Given the description of an element on the screen output the (x, y) to click on. 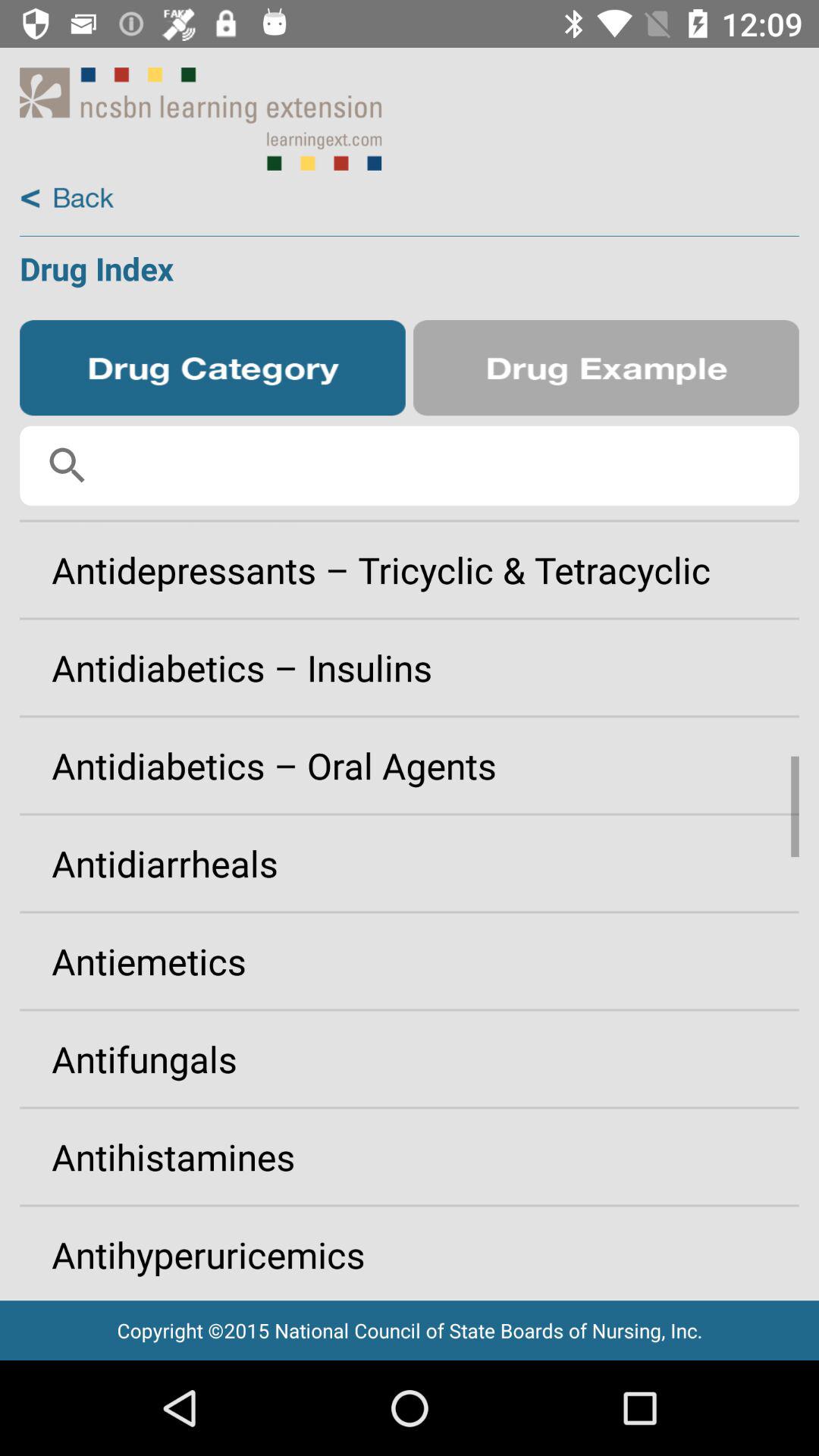
choose drug category (212, 367)
